Given the description of an element on the screen output the (x, y) to click on. 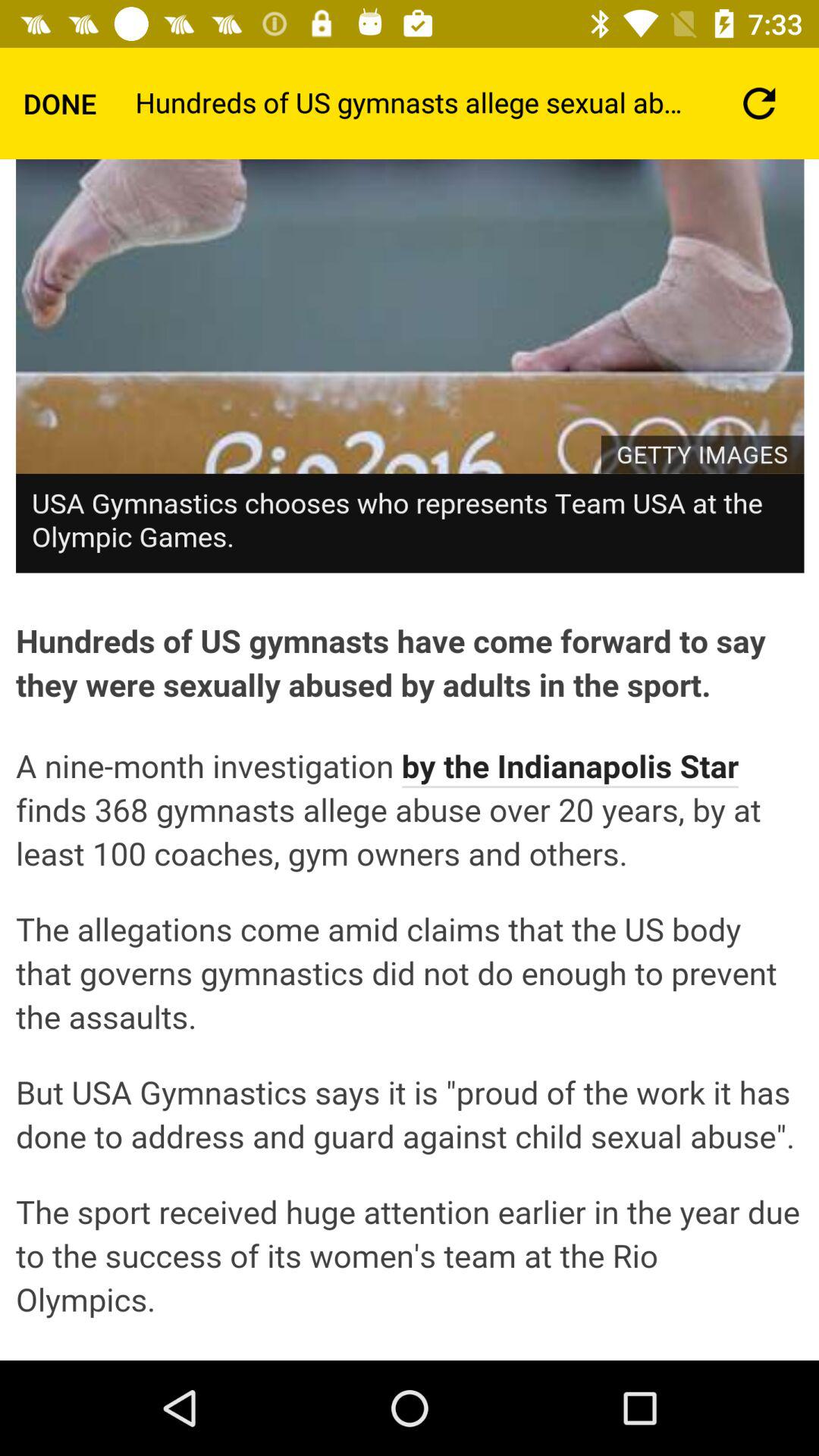
internet blog (409, 759)
